Given the description of an element on the screen output the (x, y) to click on. 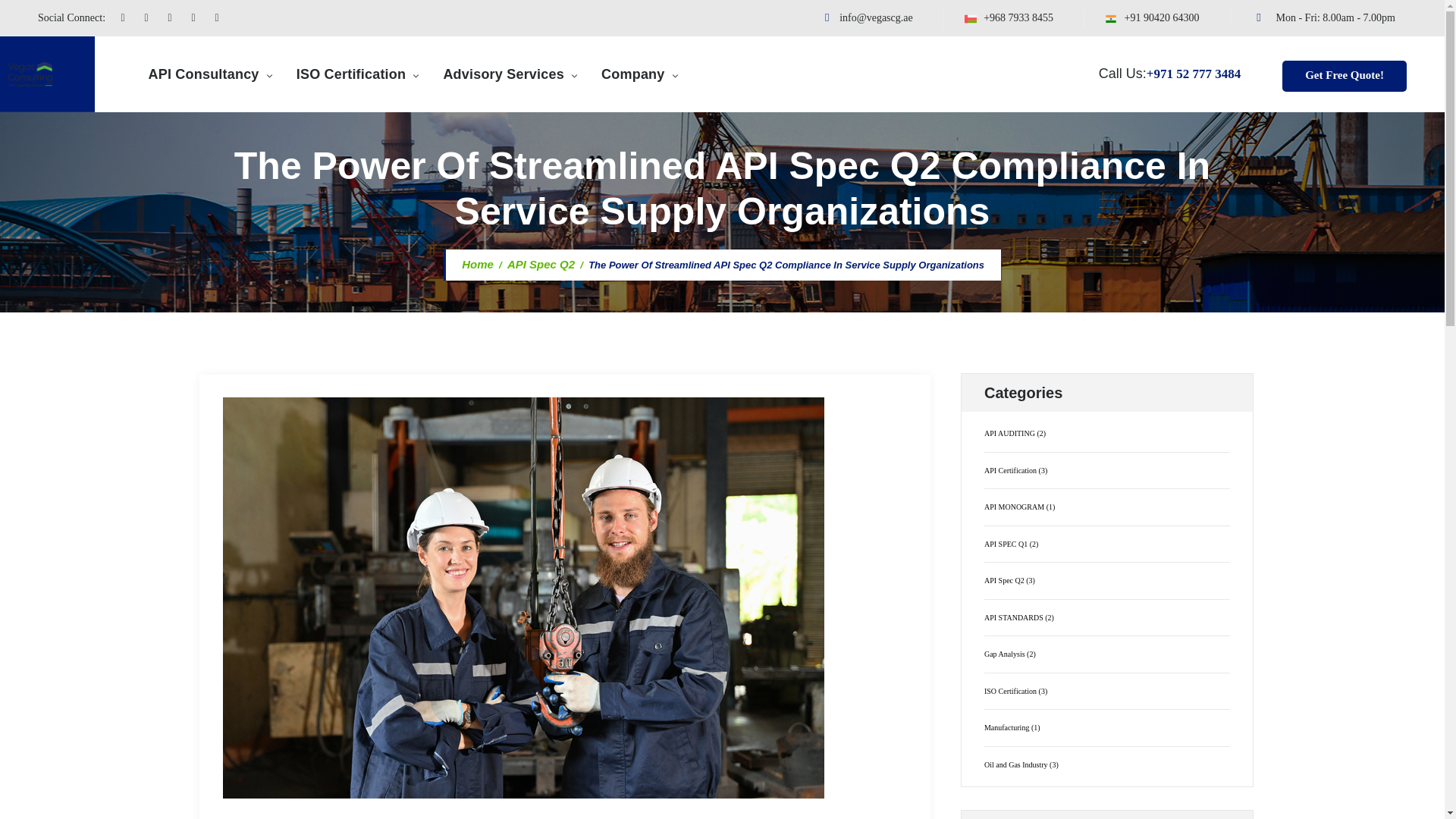
Advisory Services (509, 74)
Get Free Quote! (1344, 75)
Vegas Consulting (47, 74)
Go to the API Spec Q2 Category archives. (540, 264)
API Consultancy (210, 74)
ISO Certification (358, 74)
Company (639, 74)
Go to Vegas Consulting. (475, 264)
